Given the description of an element on the screen output the (x, y) to click on. 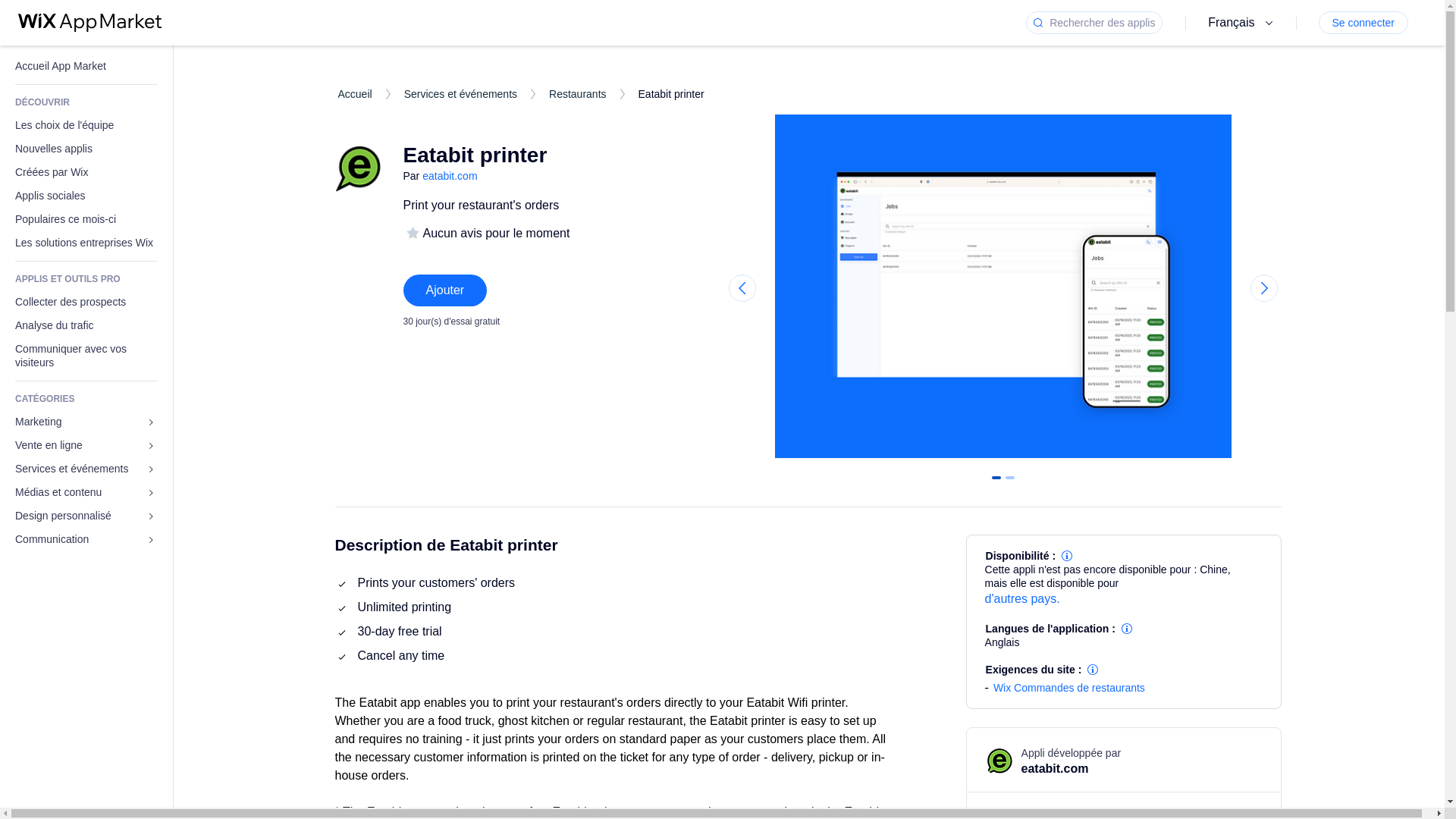
Vente en ligne (86, 445)
Communiquer avec vos visiteurs (86, 355)
Nouvelles applis (86, 148)
Applis sociales (86, 196)
Les solutions entreprises Wix (86, 242)
Accueil App Market (86, 65)
Se connecter (1362, 22)
Marketing (86, 422)
Collecter des prospects (86, 301)
Analyse du trafic (86, 325)
